Given the description of an element on the screen output the (x, y) to click on. 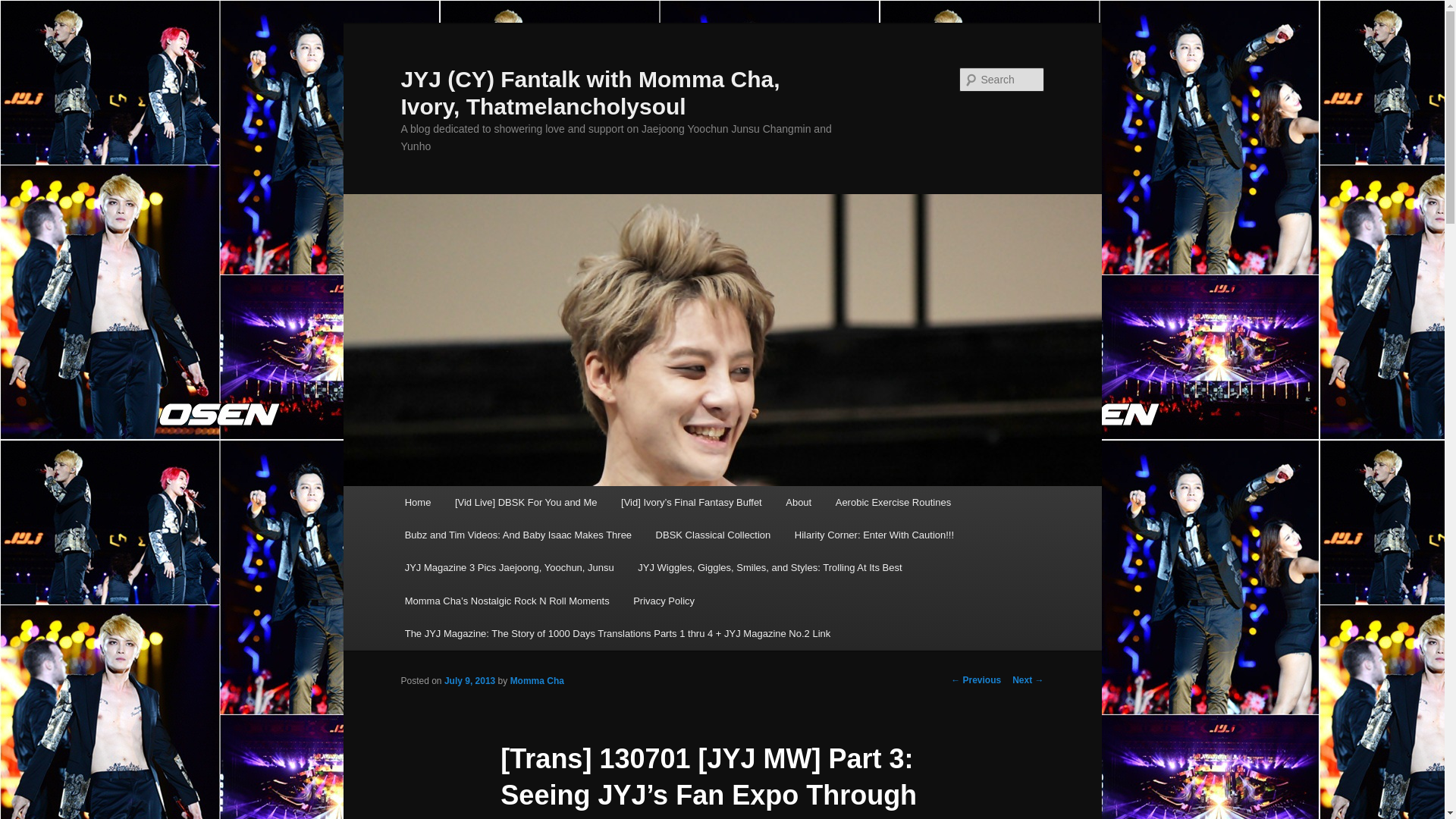
Search (24, 8)
About (797, 502)
Momma Cha (537, 680)
DBSK Classical Collection (713, 534)
July 9, 2013 (469, 680)
JYJ Magazine 3 Pics Jaejoong, Yoochun, Junsu (509, 567)
Hilarity Corner: Enter With Caution!!! (874, 534)
Privacy Policy (663, 600)
